Given the description of an element on the screen output the (x, y) to click on. 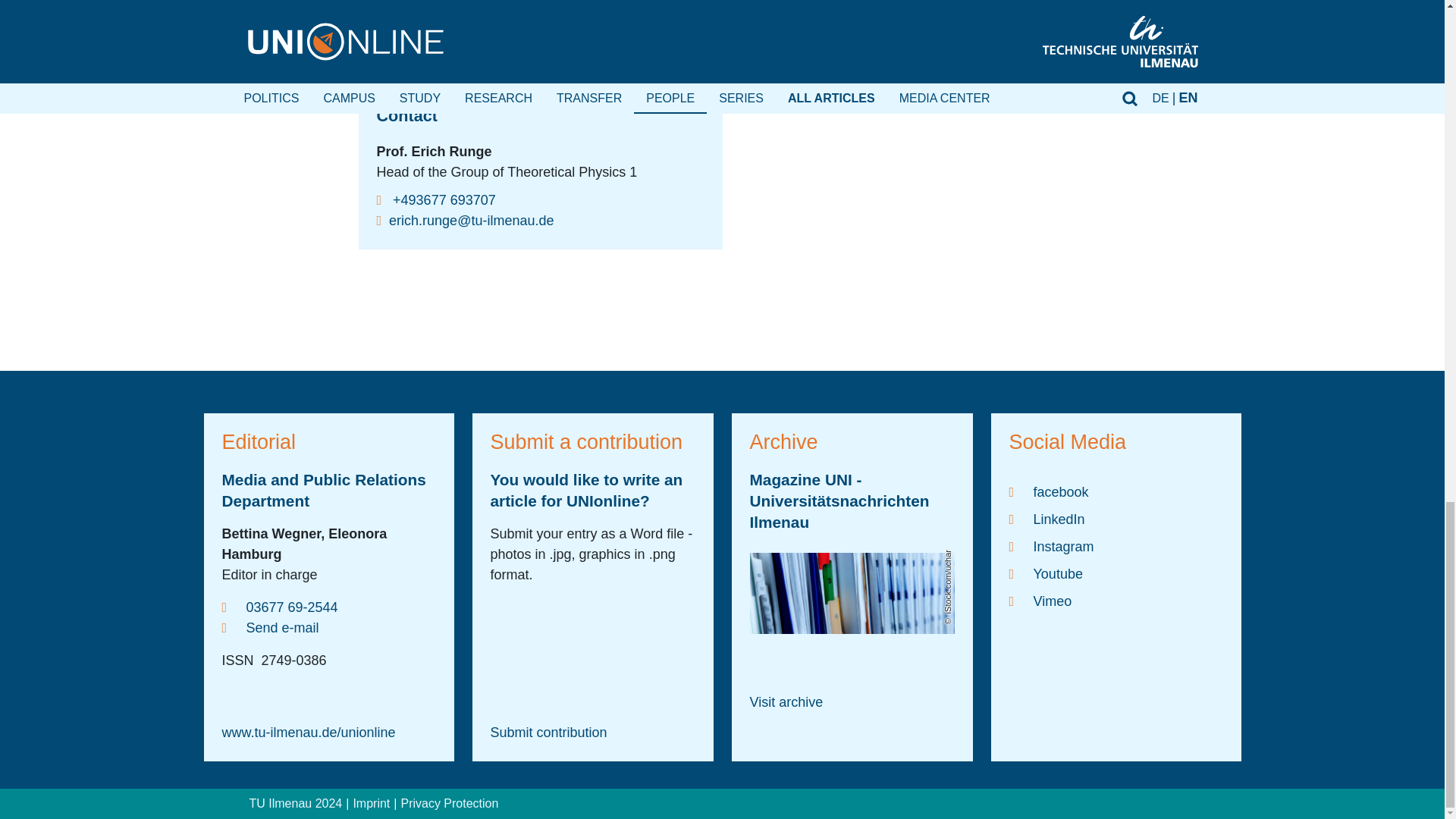
Youtube (1116, 574)
LinkedIn-Profil der TU Ilmenau (1116, 519)
Submt articles (548, 732)
gold sponges (697, 20)
Facebook-Profil der TU Ilmenau (1116, 492)
Visit archive (785, 702)
Vimeo (1116, 601)
Submit contribution (548, 732)
Imprint (371, 802)
facebook (1116, 492)
Instagram-Profil der TU Ilmenau (1116, 546)
Send e-mail (269, 628)
Instagram (1116, 546)
Visit archive (785, 702)
